Given the description of an element on the screen output the (x, y) to click on. 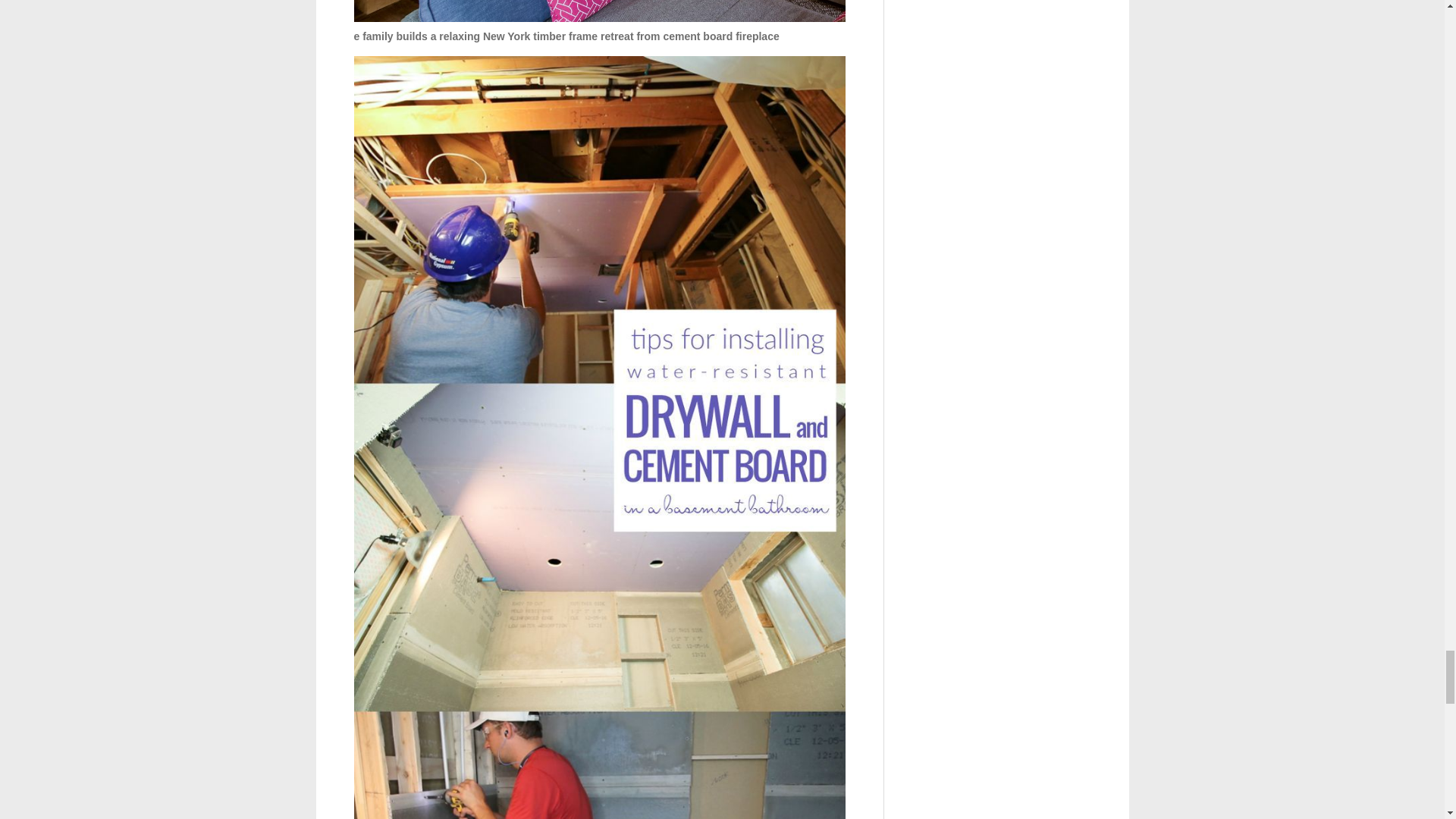
e family builds a relaxing New York timber frame retreat (598, 11)
